Given the description of an element on the screen output the (x, y) to click on. 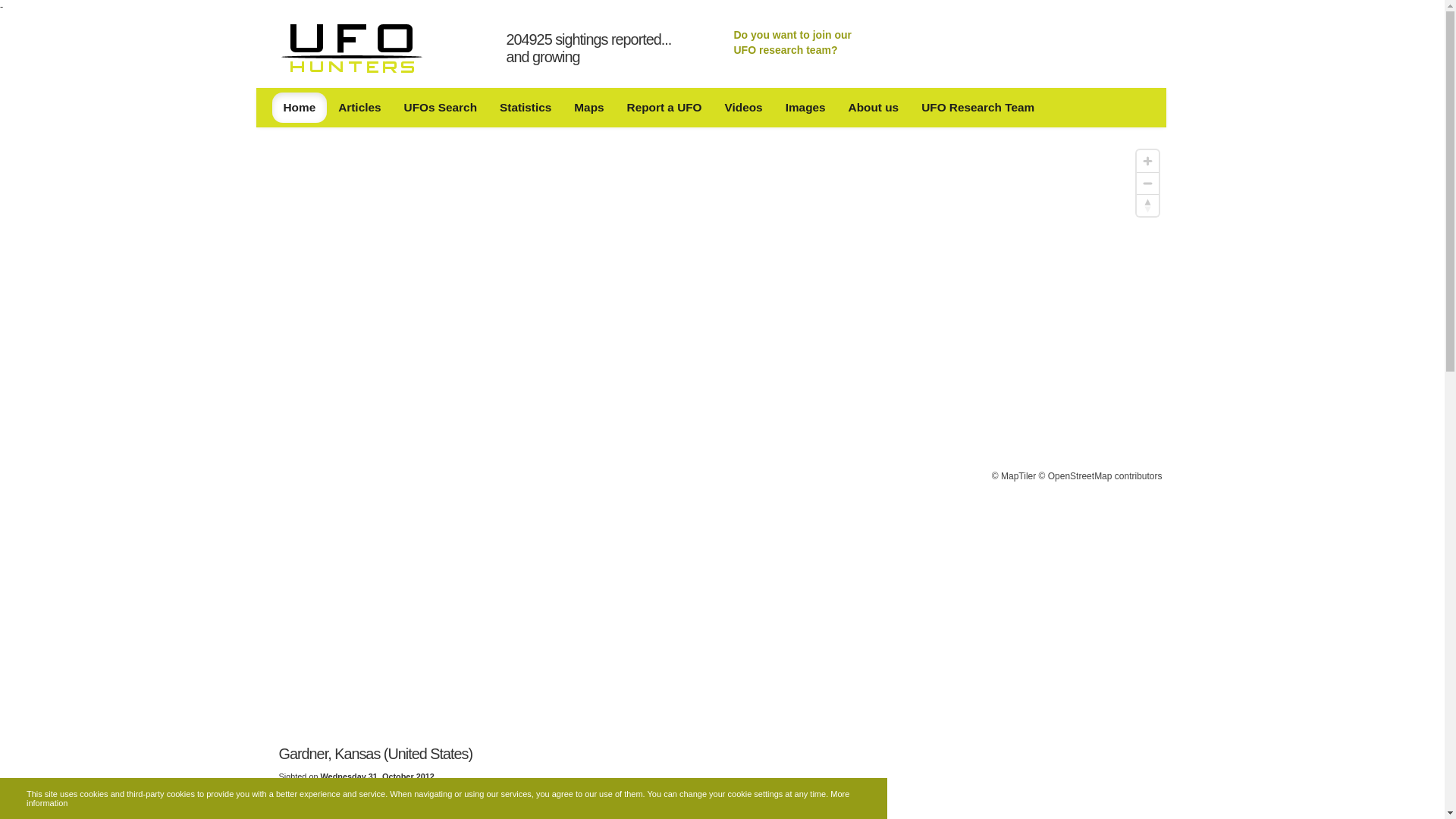
UFOs Search (440, 107)
Do you want to join our UFO research team? (792, 42)
About us (874, 107)
Zoom in (1146, 160)
Zoom out (1146, 182)
Home (298, 107)
Images (805, 107)
Videos (743, 107)
Articles (358, 107)
UFO Research Team (977, 107)
Report a UFO (664, 107)
Maps (588, 107)
Reset bearing to north (1146, 205)
More information (437, 798)
Statistics (524, 107)
